Given the description of an element on the screen output the (x, y) to click on. 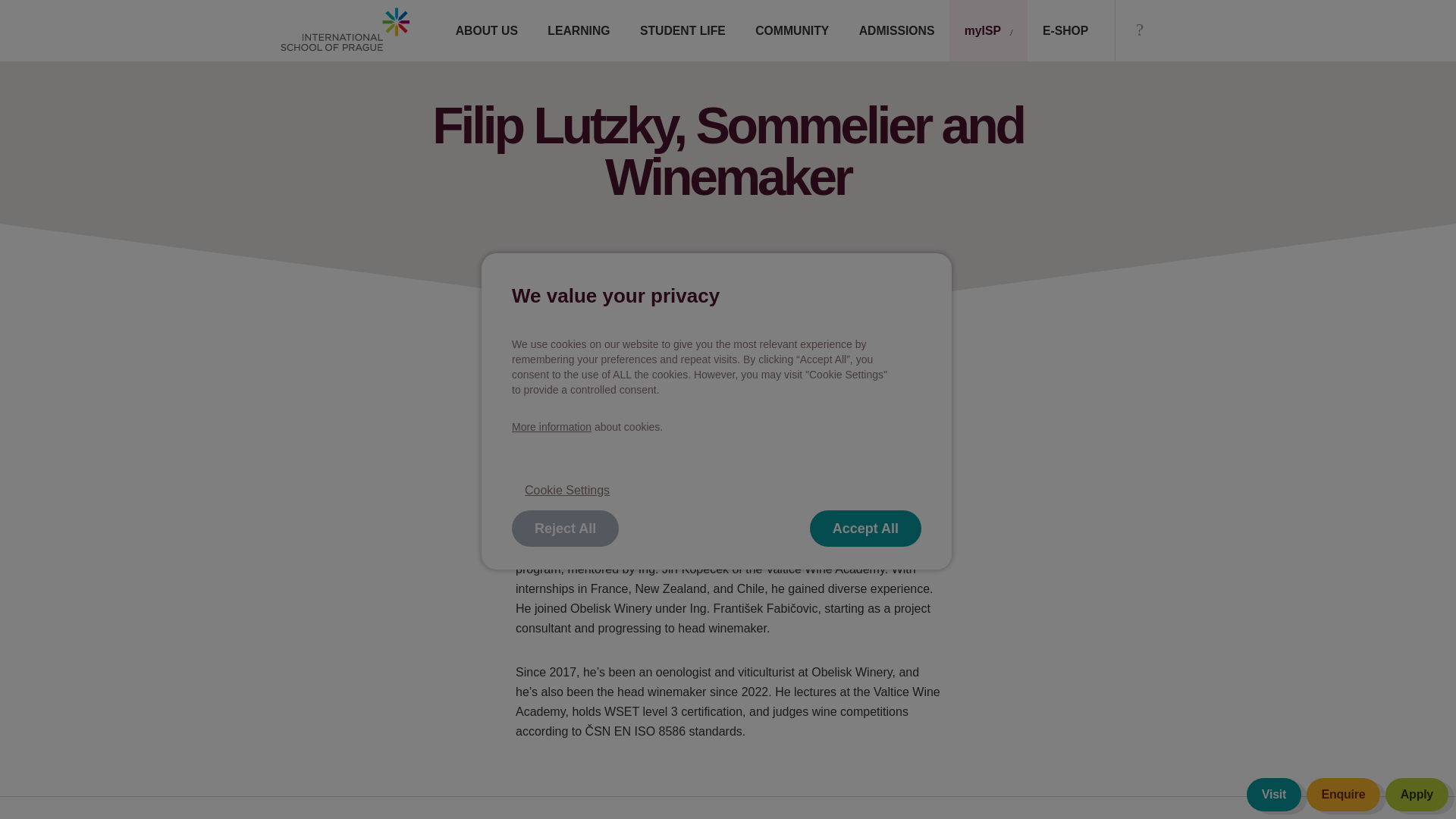
myISP (988, 30)
COMMUNITY (791, 30)
ADMISSIONS (896, 30)
STUDENT LIFE (681, 30)
Home (345, 28)
E-SHOP (1065, 30)
ABOUT US (486, 30)
LEARNING (579, 30)
Home (345, 30)
